Given the description of an element on the screen output the (x, y) to click on. 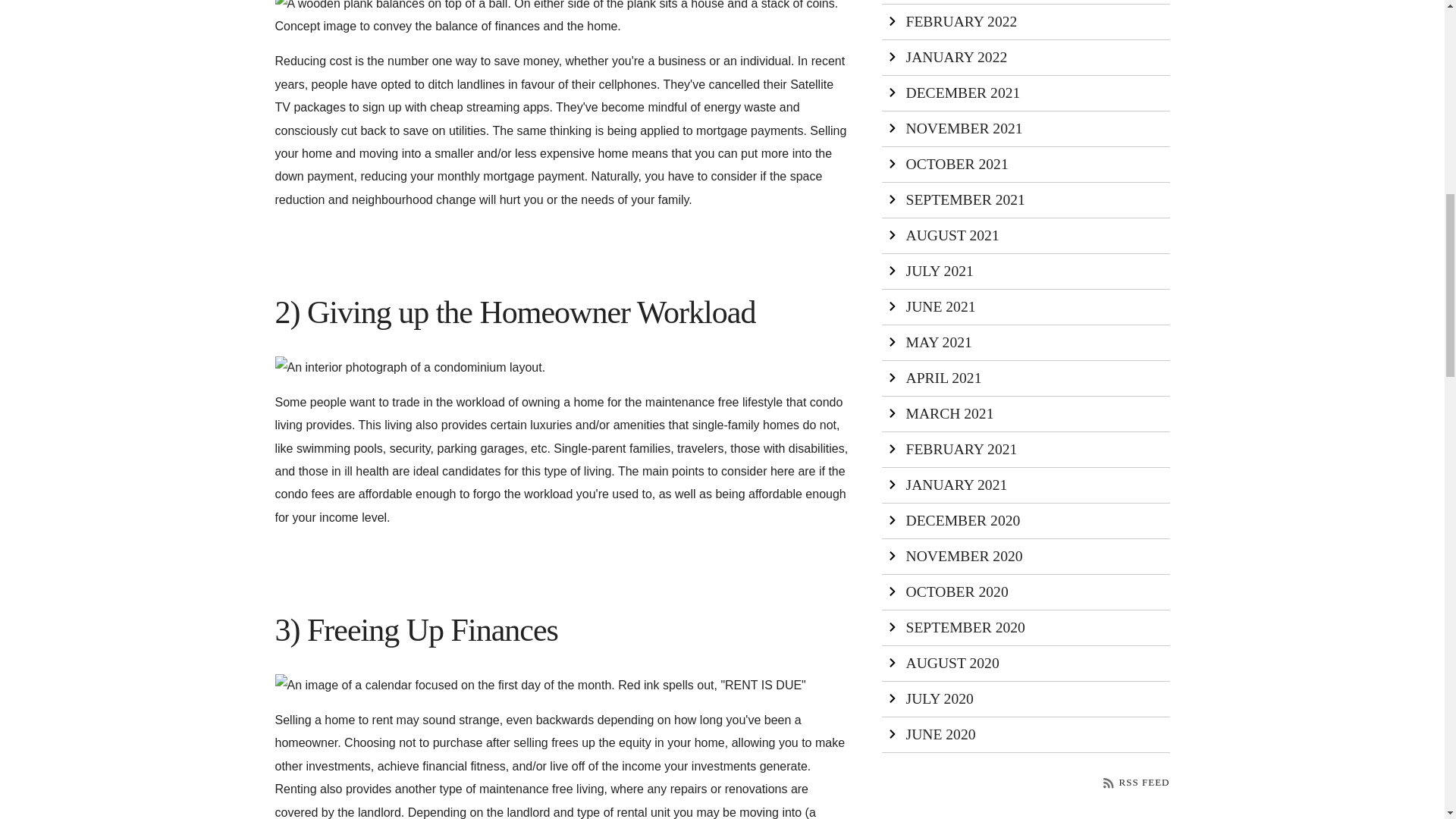
RSS FEED (1136, 781)
